Given the description of an element on the screen output the (x, y) to click on. 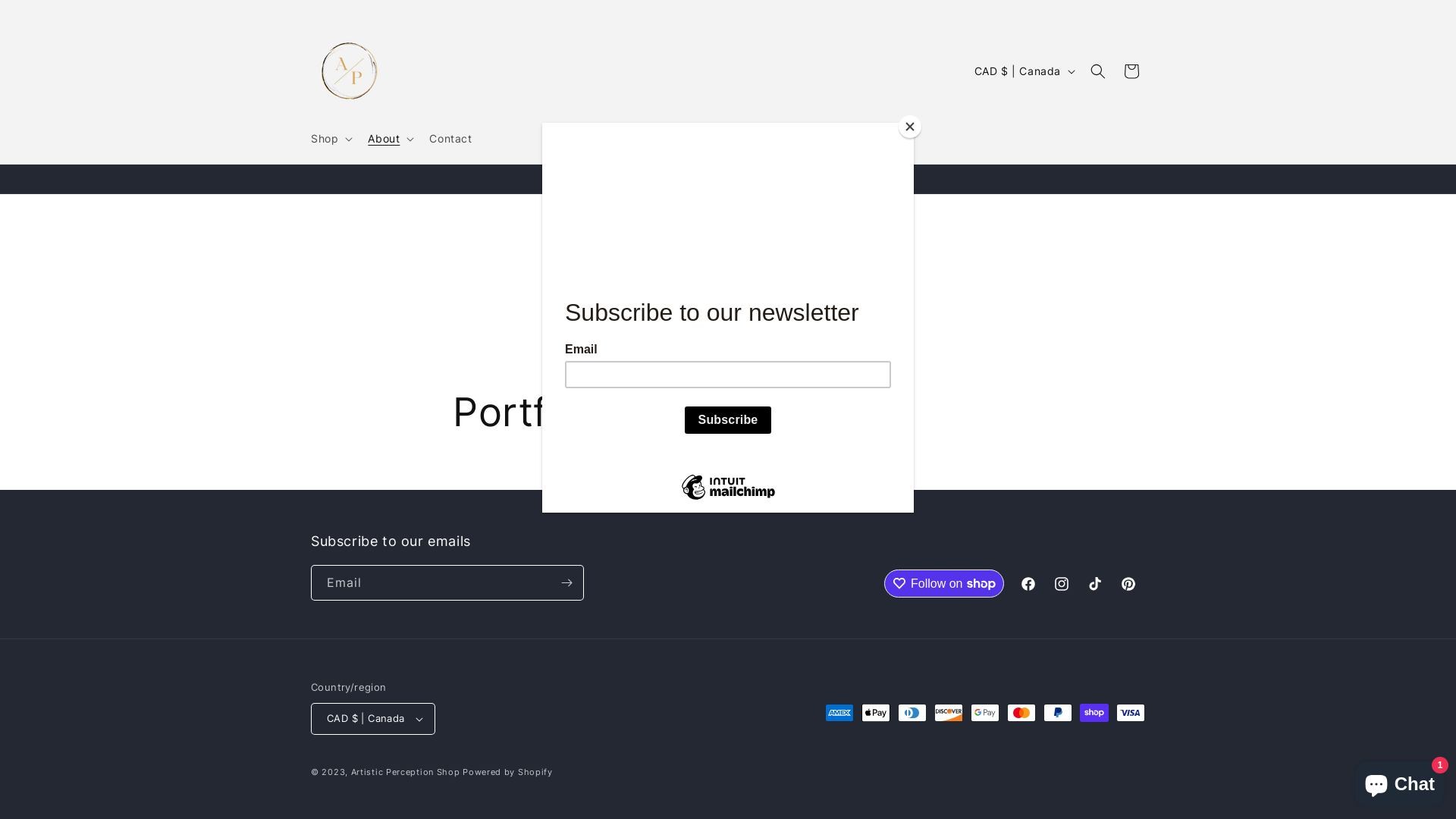
Artistic Perception Shop Element type: text (405, 771)
Facebook Element type: text (1027, 583)
Shopify online store chat Element type: hover (1399, 780)
Cart Element type: text (1131, 70)
Pinterest Element type: text (1128, 583)
TikTok Element type: text (1094, 583)
Contact Element type: text (450, 138)
Powered by Shopify Element type: text (507, 771)
CAD $ | Canada Element type: text (372, 718)
CAD $ | Canada Element type: text (1023, 70)
Instagram Element type: text (1061, 583)
Welcome to Artistic Perception shop Element type: text (727, 178)
